Given the description of an element on the screen output the (x, y) to click on. 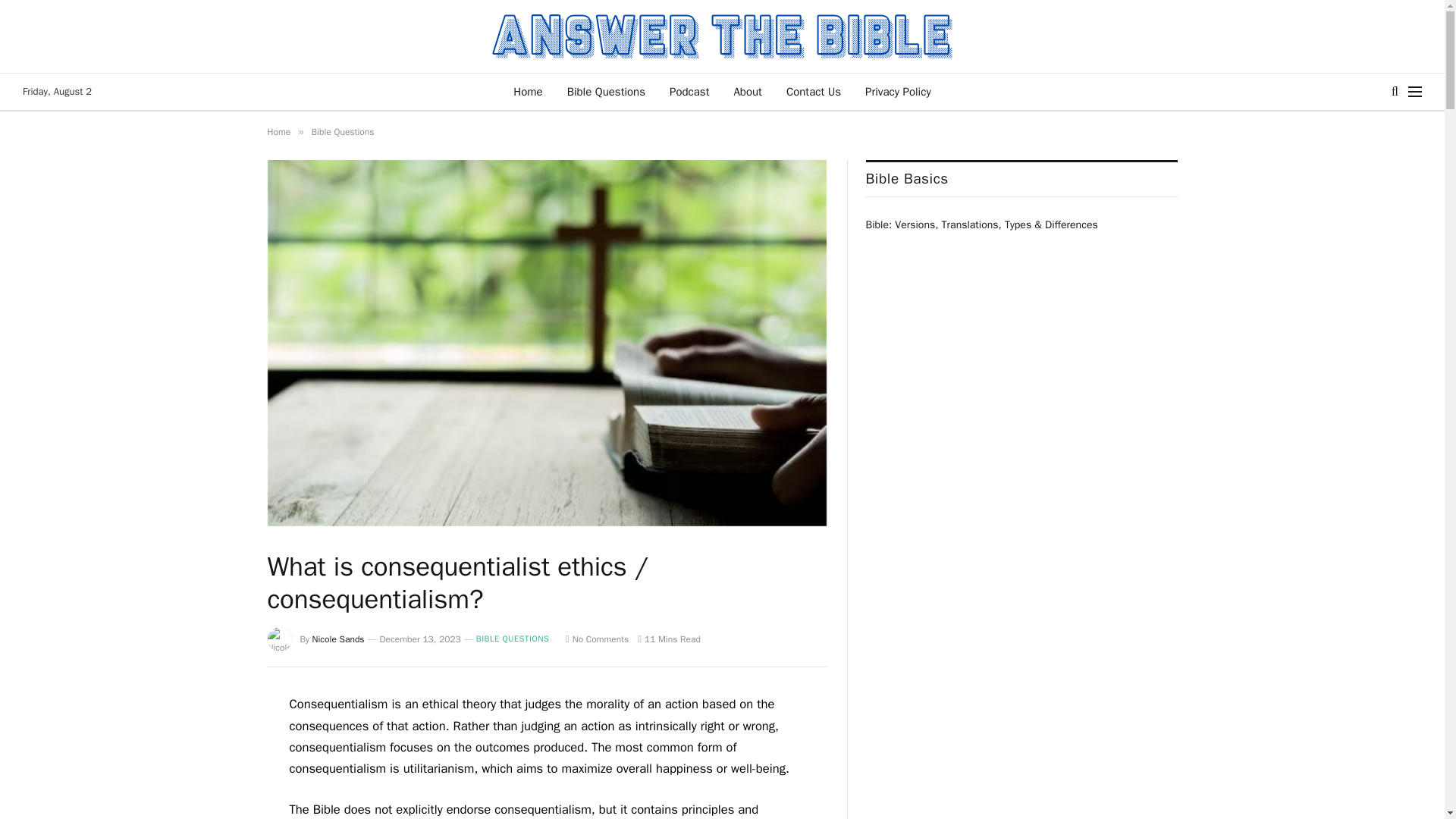
Answer The Bible (722, 36)
Posts by Nicole Sands (339, 639)
Privacy Policy (898, 91)
Contact Us (813, 91)
Bible Questions (342, 132)
Home (277, 132)
Bible Questions (606, 91)
About (746, 91)
Podcast (689, 91)
BIBLE QUESTIONS (513, 638)
No Comments (597, 639)
Home (527, 91)
Nicole Sands (339, 639)
